Given the description of an element on the screen output the (x, y) to click on. 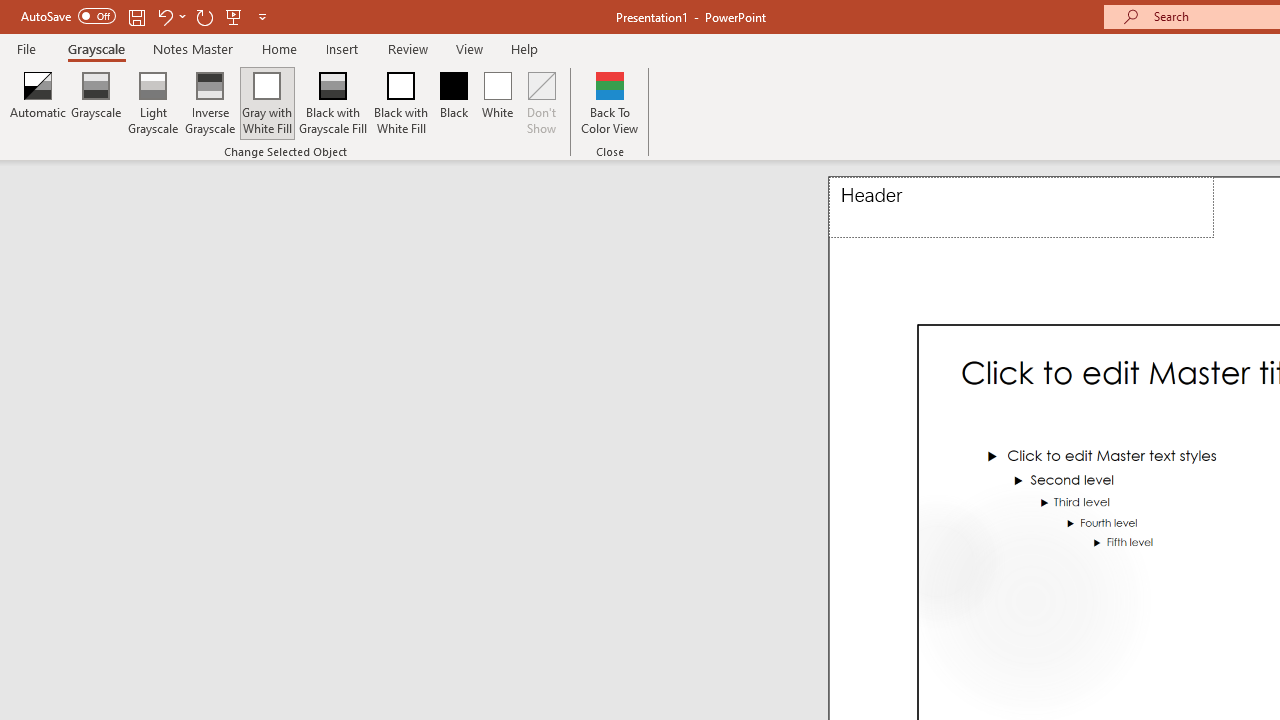
Automatic (38, 102)
